Given the description of an element on the screen output the (x, y) to click on. 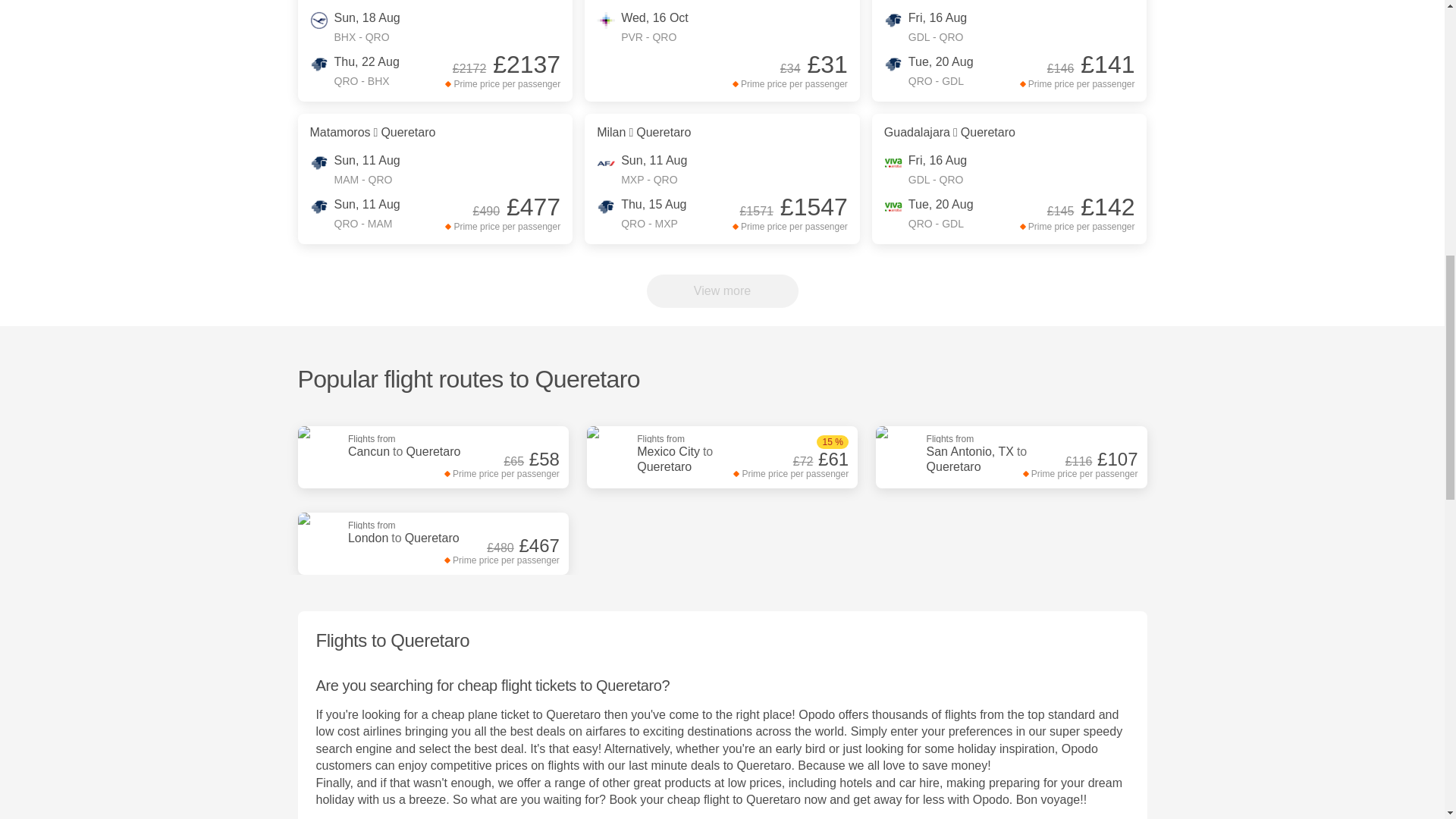
View more (410, 532)
